Given the description of an element on the screen output the (x, y) to click on. 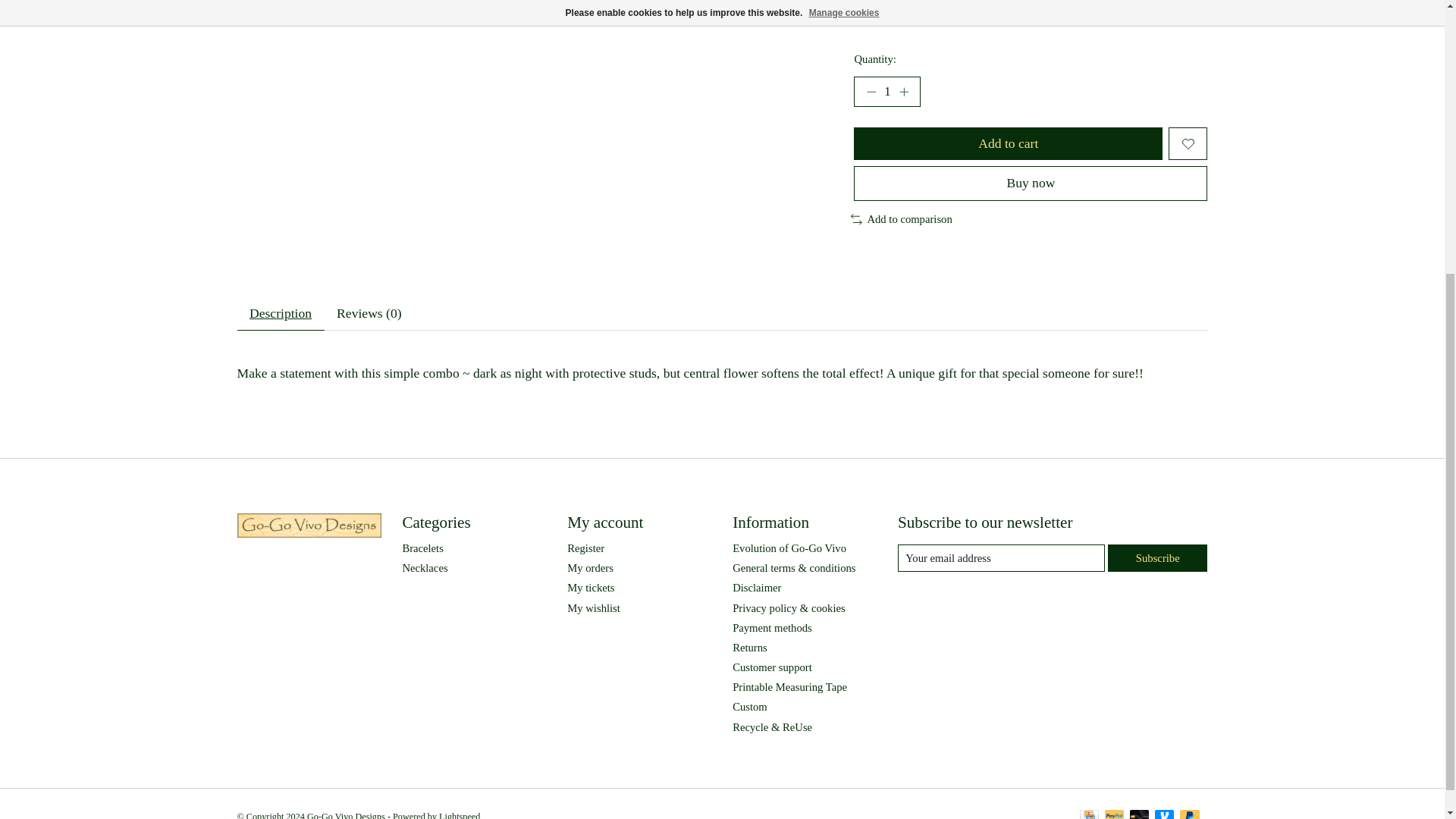
1 (886, 91)
Register (585, 548)
Disclaimer (756, 587)
Payment methods (772, 627)
Evolution of Go-Go Vivo (788, 548)
Description (279, 313)
Bracelets (422, 548)
Add to comparison (901, 219)
Buy now (1030, 182)
My wishlist (593, 607)
My orders (589, 567)
My tickets (590, 587)
Add to cart (1007, 143)
Returns (749, 647)
